Given the description of an element on the screen output the (x, y) to click on. 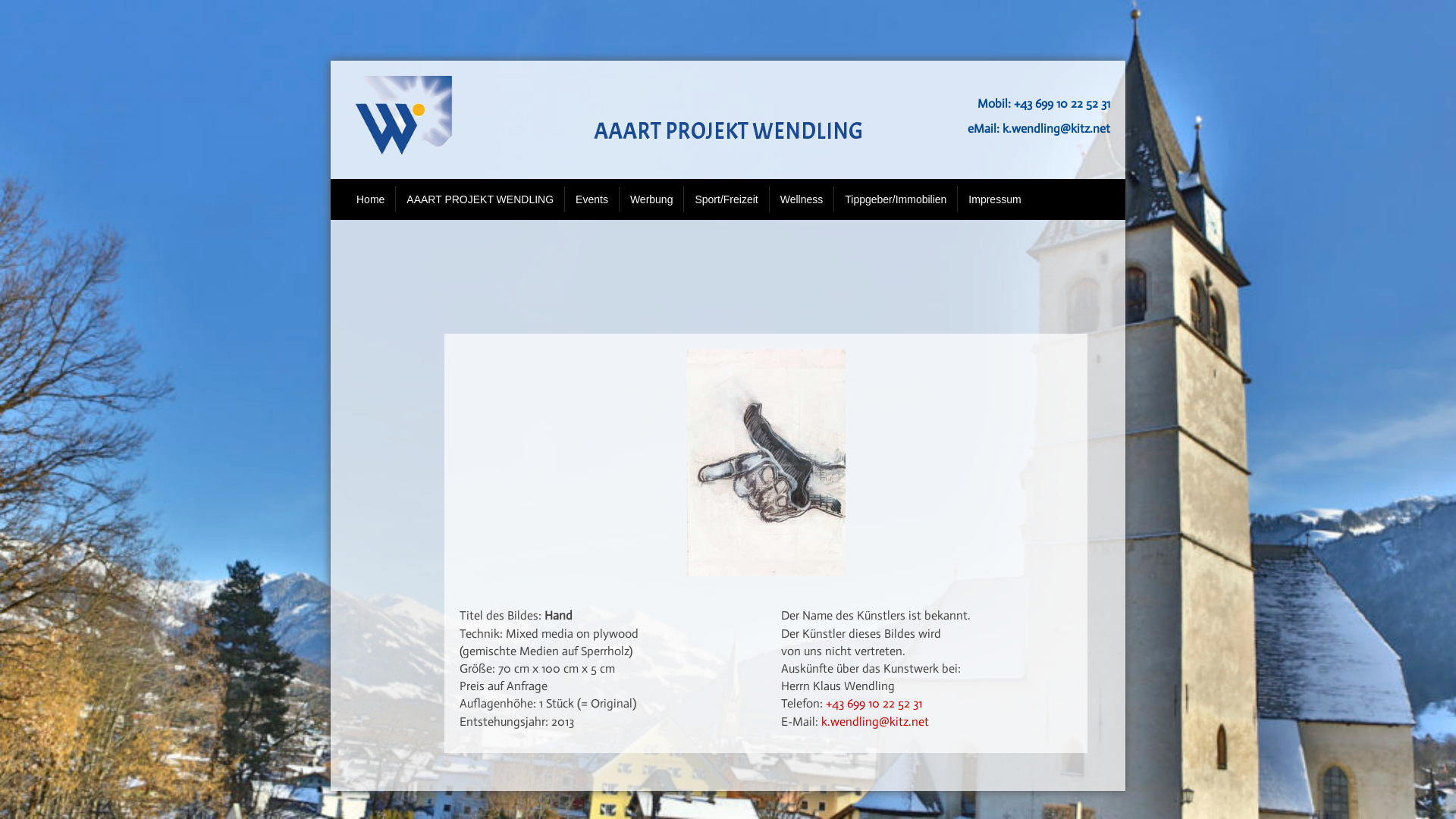
2012 - Hand - 70 cm x 100 cm - Mixed media on plywood Element type: hover (766, 462)
k.wendling@kitz.net Element type: text (874, 721)
Werbung Element type: text (651, 199)
wendling.cc logo-2 Element type: hover (402, 119)
+43 699 10 22 52 31 Element type: text (1061, 103)
Tippgeber/Immobilien Element type: text (895, 199)
Sport/Freizeit Element type: text (726, 199)
AAART PROJEKT WENDLING Element type: text (479, 199)
Home Element type: text (370, 199)
Wellness Element type: text (801, 199)
Events Element type: text (591, 199)
+43 699 10 22 52 31 Element type: text (872, 703)
k.wendling@kitz.net Element type: text (1056, 128)
Impressum Element type: text (994, 199)
